Given the description of an element on the screen output the (x, y) to click on. 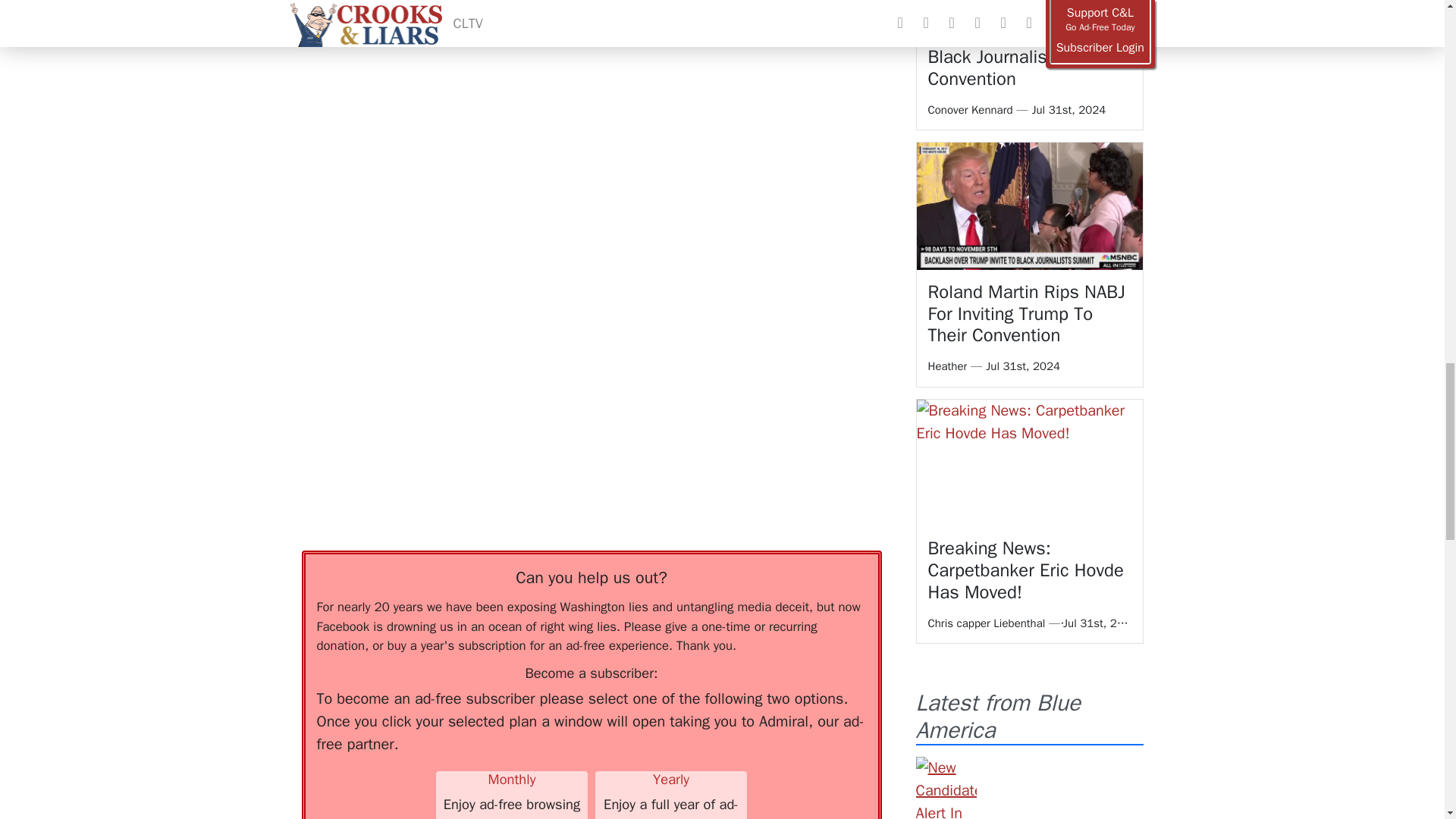
Insticator Content Engagement Unit (415, 240)
